Given the description of an element on the screen output the (x, y) to click on. 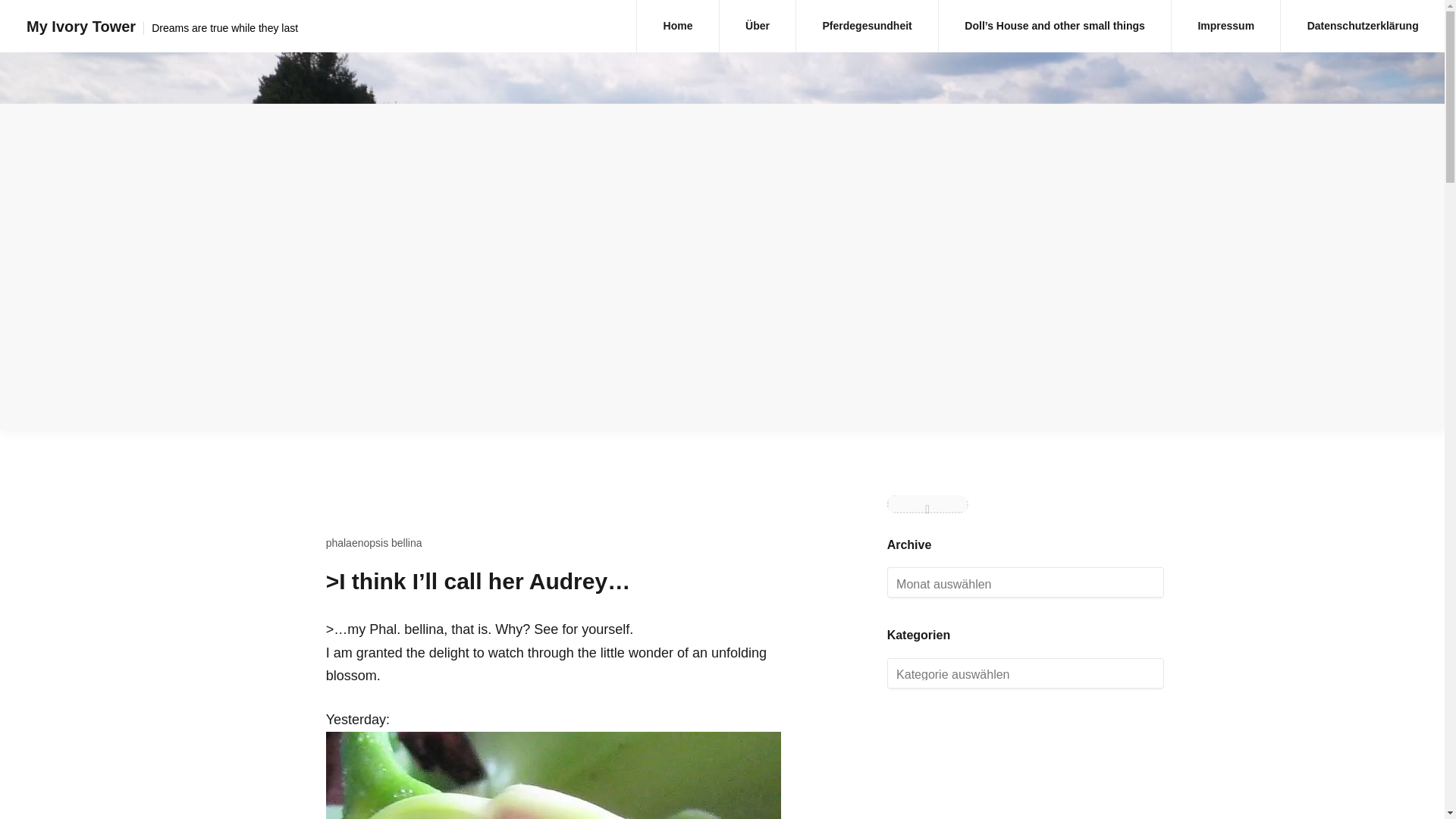
phalaenopsis bellina (374, 542)
My Ivory Tower (80, 26)
Home (677, 26)
Impressum (1225, 26)
Pferdegesundheit (866, 26)
